Given the description of an element on the screen output the (x, y) to click on. 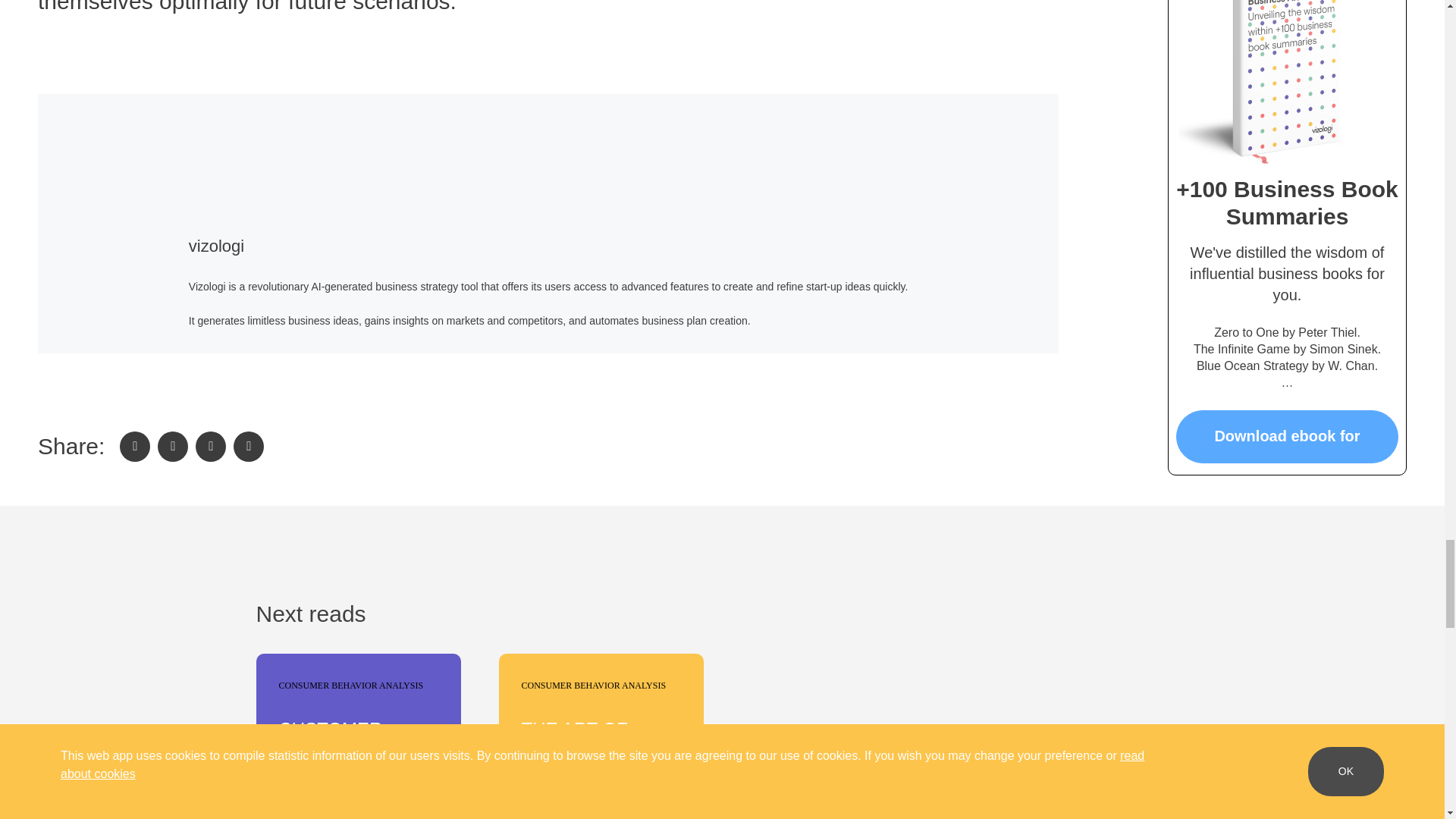
vizologi (216, 245)
Twitter (172, 446)
Facebook (134, 446)
